Given the description of an element on the screen output the (x, y) to click on. 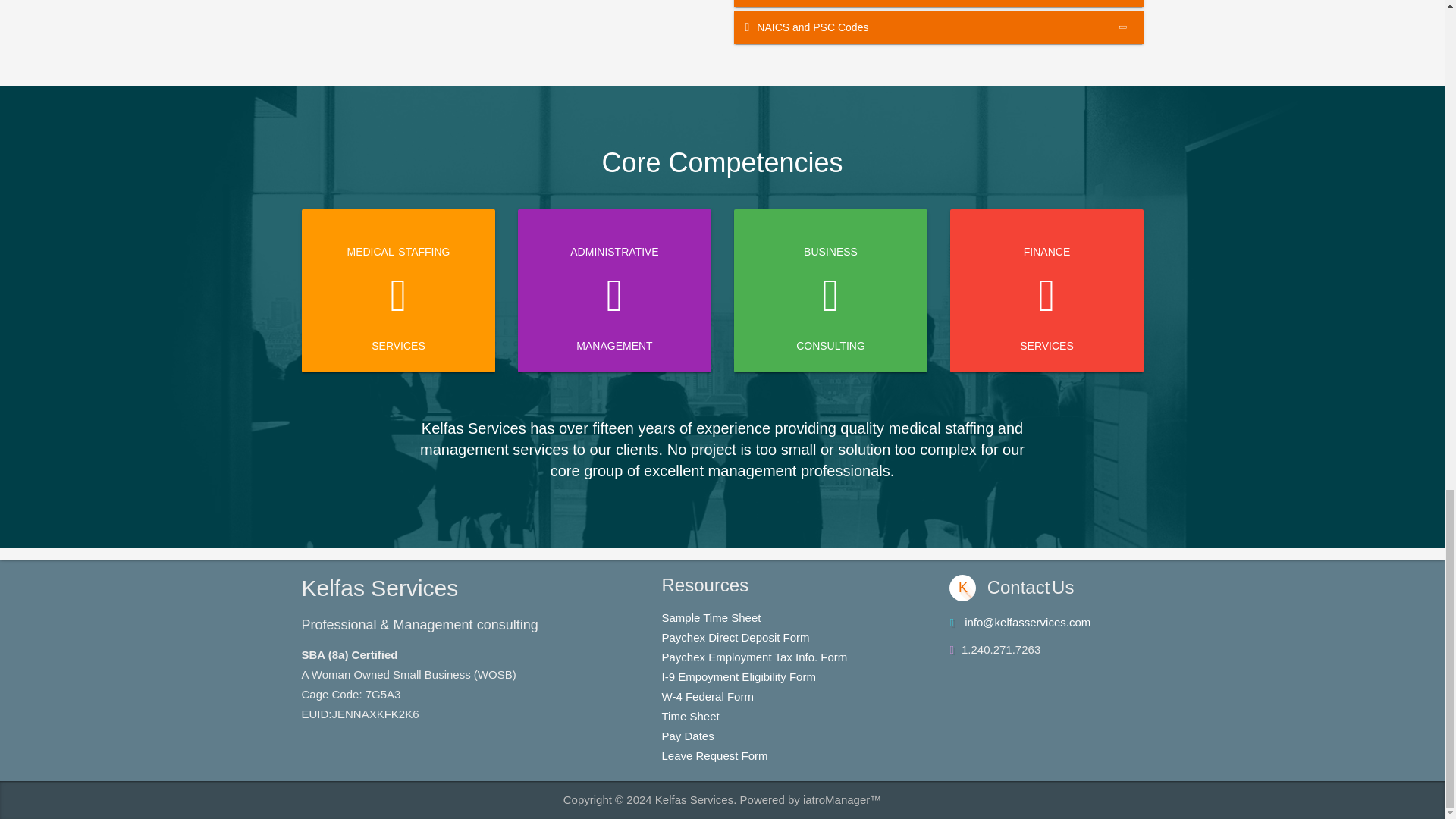
Paychex Employment Tax Info. Form (754, 656)
W-4 Federal Form (706, 696)
I-9 Empoyment Eligibility Form (738, 676)
Paychex Direct Deposit Form (735, 636)
Pay Dates (687, 735)
Customers (937, 3)
Leave Request Form (714, 755)
Sample Time Sheet (710, 617)
NAICS and PSC Codes (937, 27)
Time Sheet (690, 716)
